Given the description of an element on the screen output the (x, y) to click on. 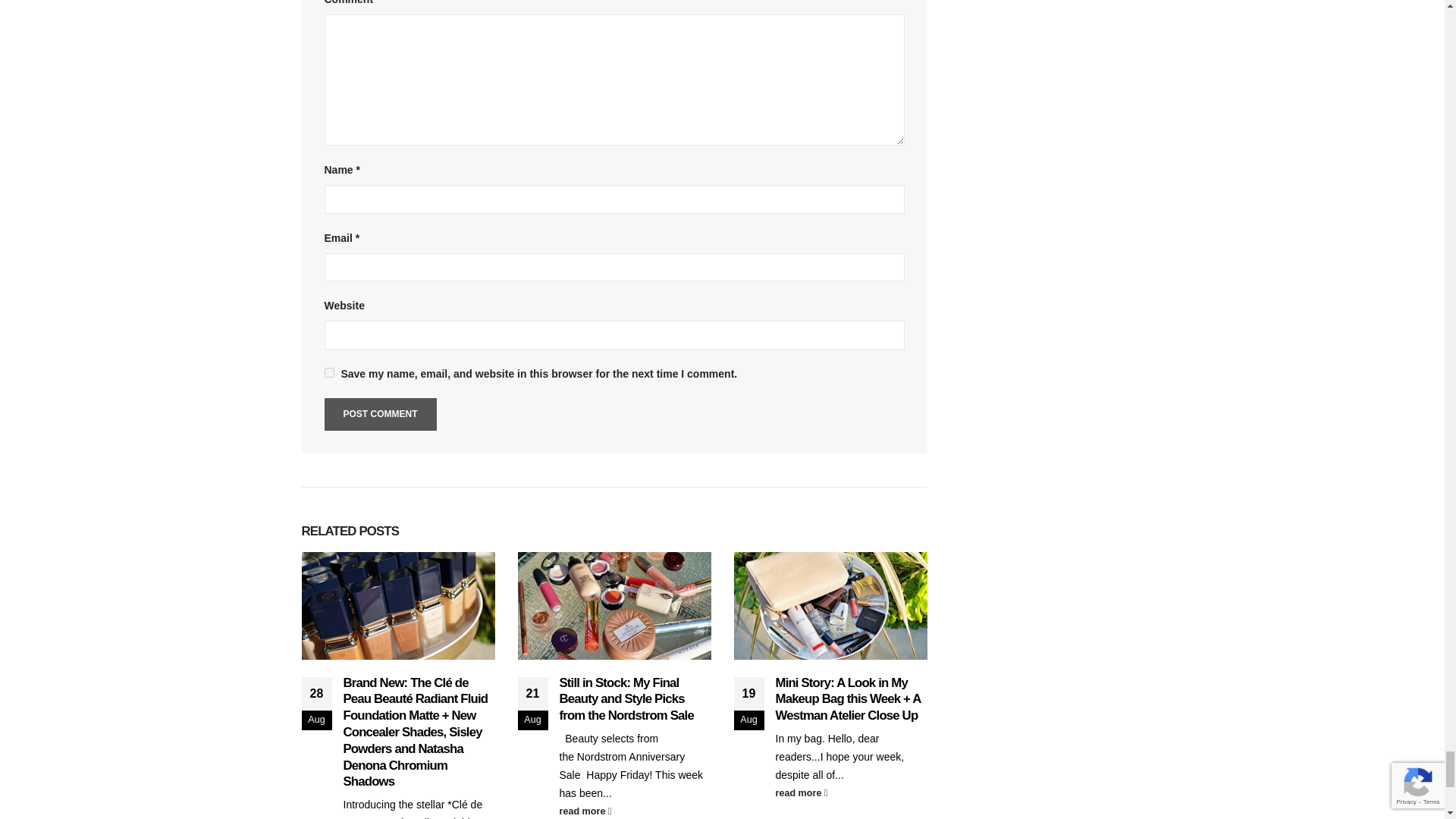
Post Comment (380, 414)
yes (329, 372)
